Given the description of an element on the screen output the (x, y) to click on. 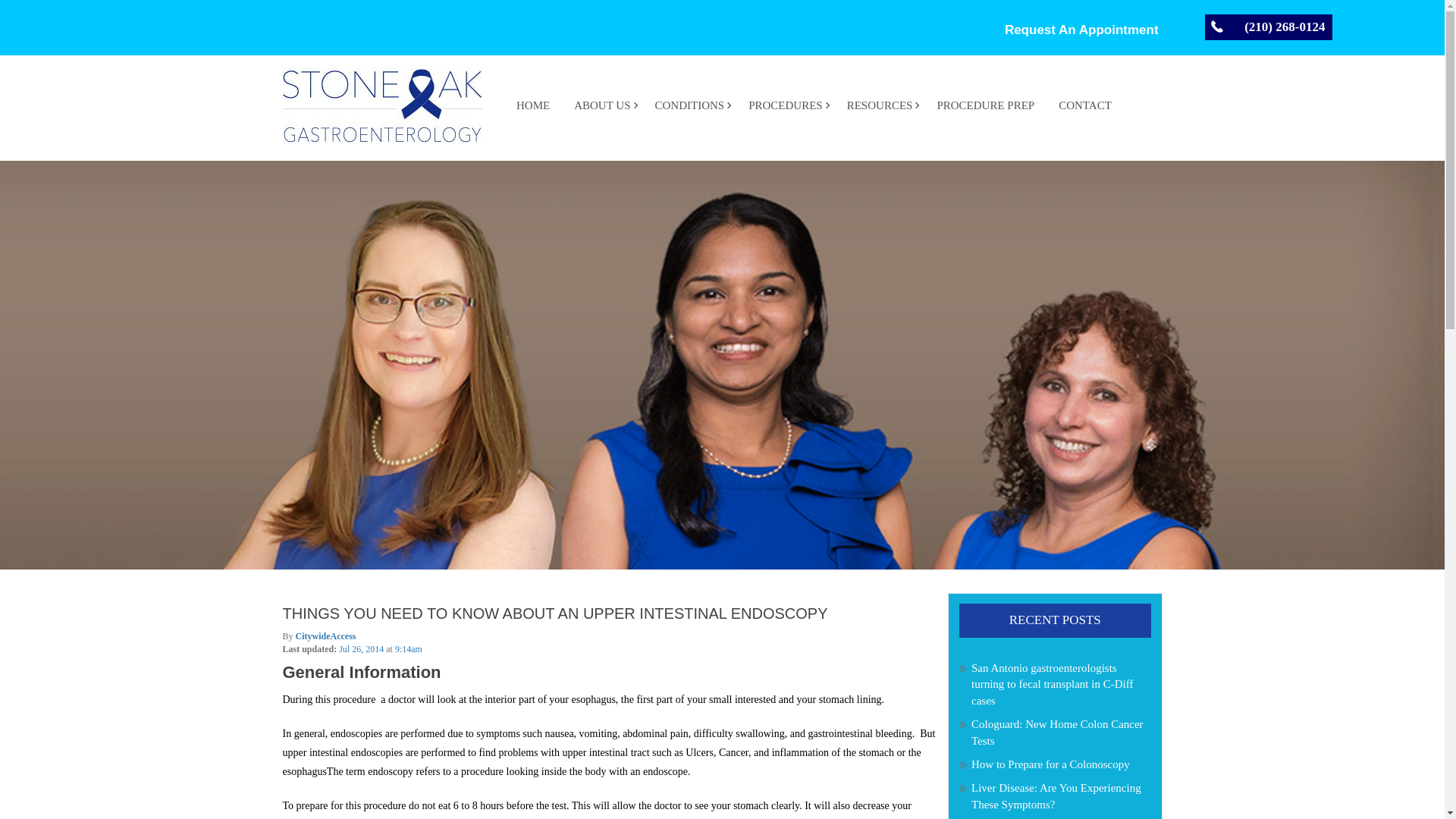
ABOUT US (602, 111)
CONTACT (1085, 111)
9:14am (408, 648)
HOME (532, 111)
RESOURCES (879, 111)
PROCEDURES (785, 111)
PROCEDURE PREP (985, 111)
CONDITIONS (689, 111)
CitywideAccess (325, 635)
Jul 26, 2014 (362, 648)
Request An Appointment (1080, 30)
